Given the description of an element on the screen output the (x, y) to click on. 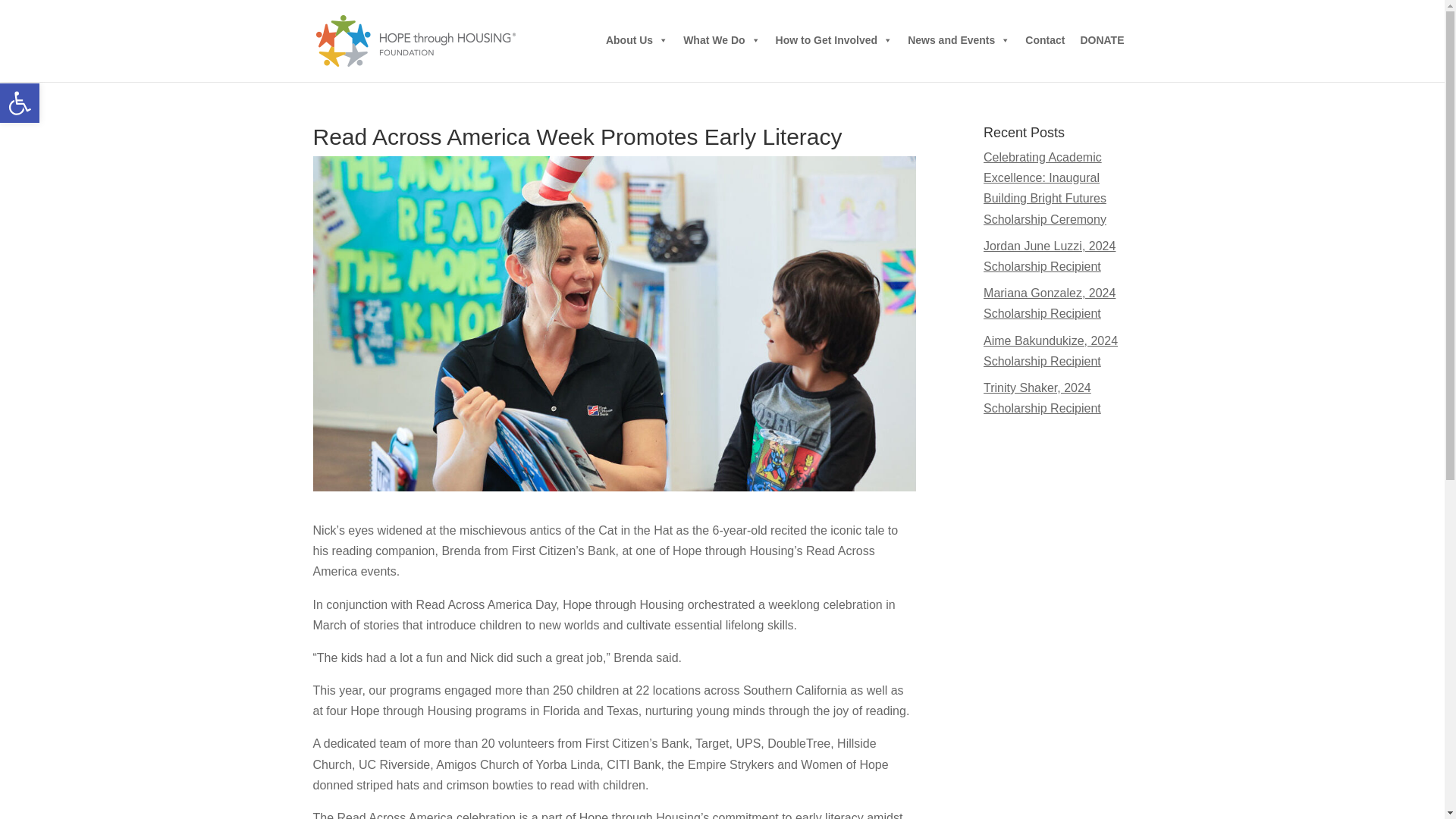
About Us (636, 40)
Accessibility Tools (19, 102)
